Given the description of an element on the screen output the (x, y) to click on. 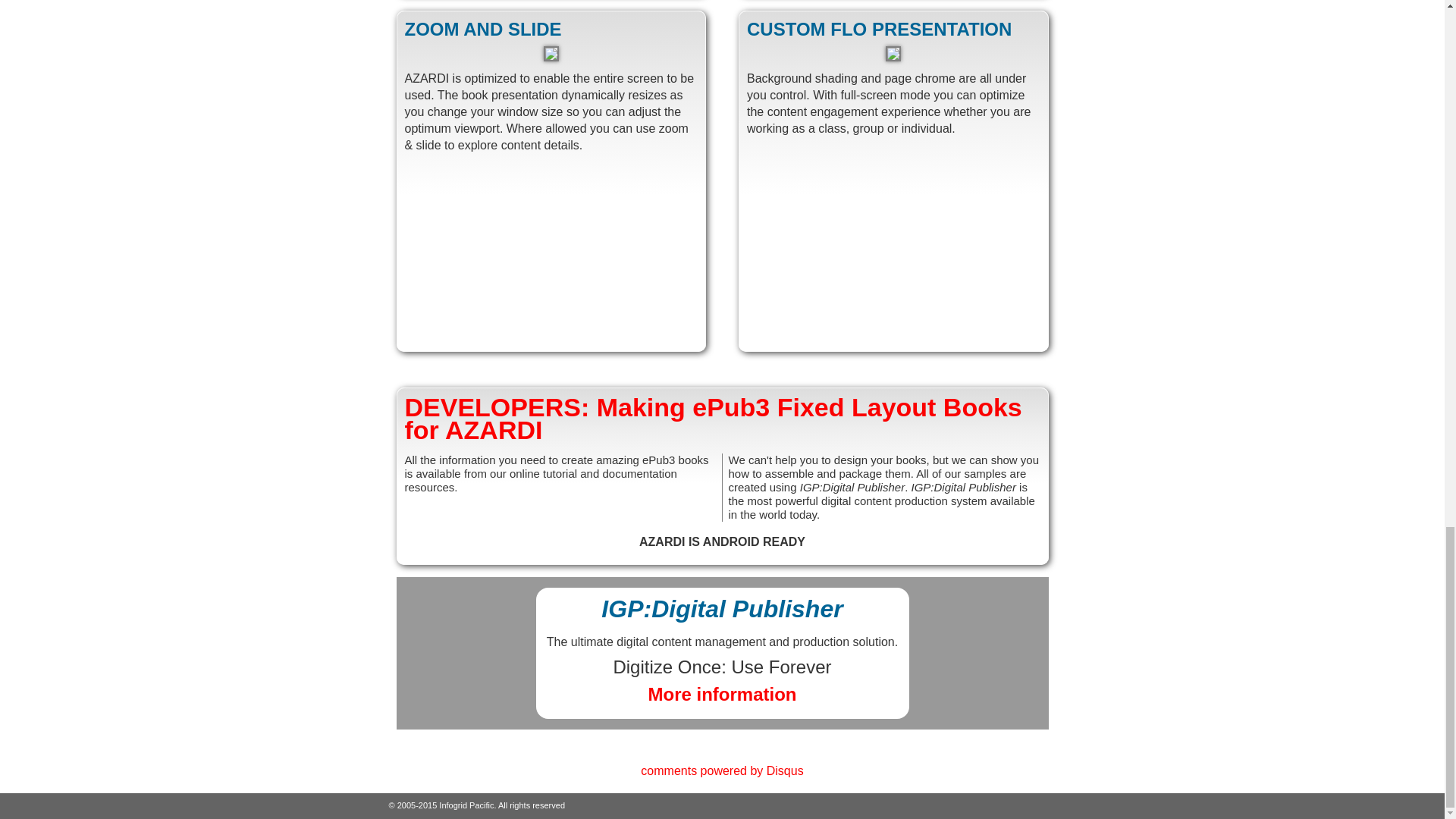
comments powered by Disqus (721, 770)
More information (721, 693)
